Given the description of an element on the screen output the (x, y) to click on. 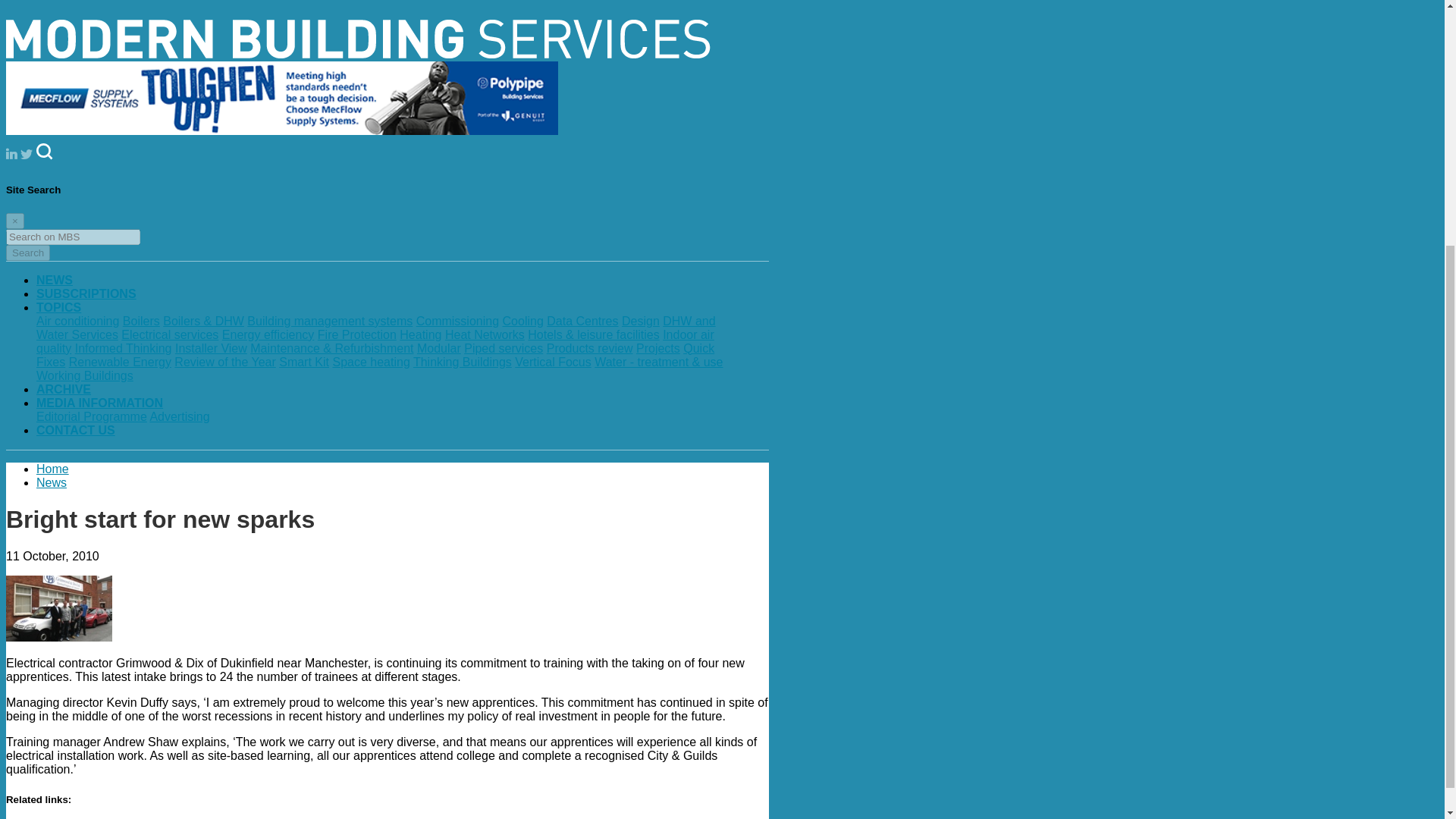
Boilers (141, 320)
Fire Protection (356, 334)
Cooling (522, 320)
Products review (590, 348)
Energy efficiency (268, 334)
Air conditioning (77, 320)
SUBSCRIPTIONS (86, 293)
Quick Fixes (375, 355)
Heating (419, 334)
Review of the Year (224, 361)
